Given the description of an element on the screen output the (x, y) to click on. 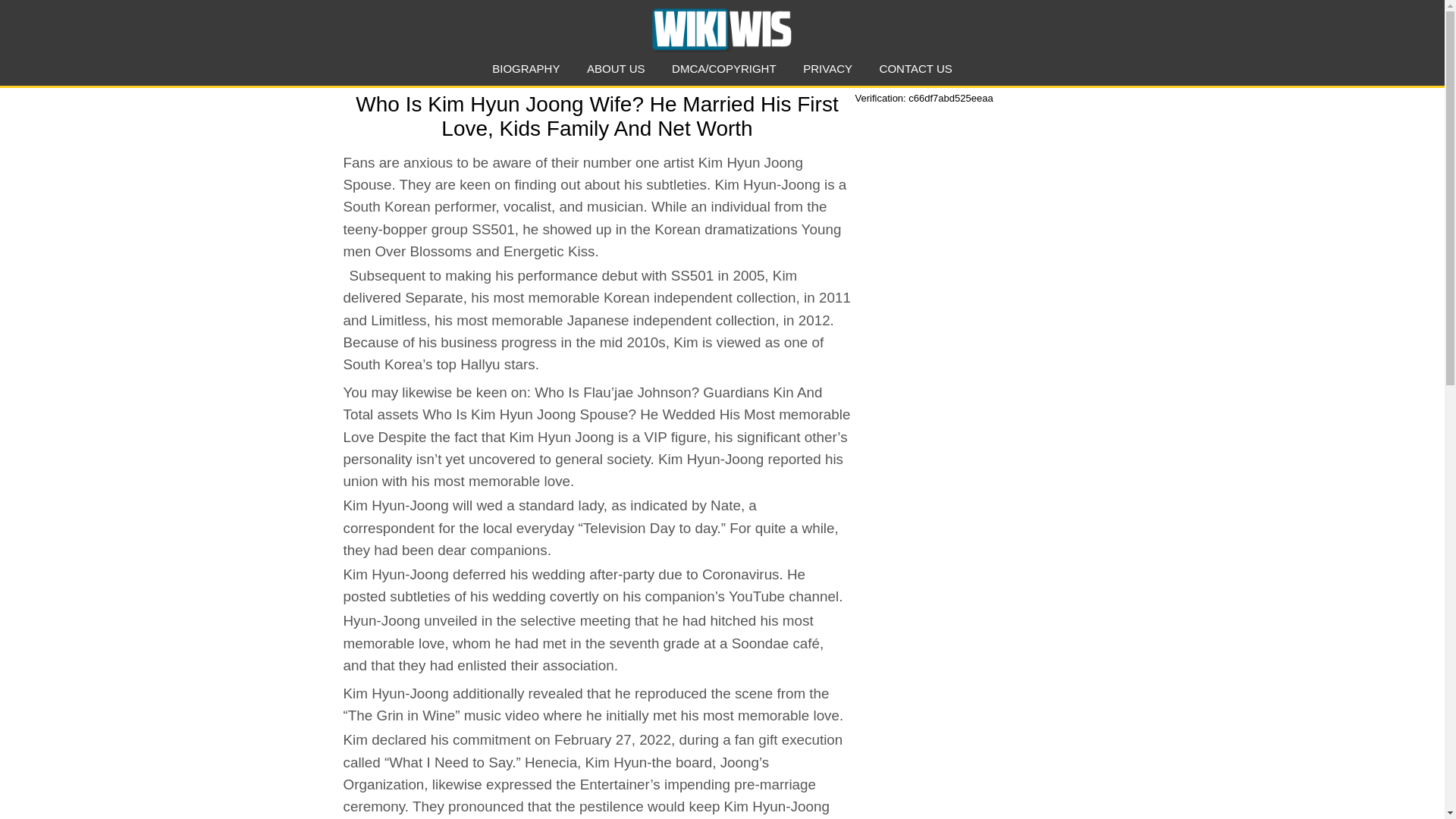
PRIVACY (827, 68)
ABOUT US (615, 68)
anasayfa (721, 29)
BIOGRAPHY (525, 68)
CONTACT US (915, 68)
